Given the description of an element on the screen output the (x, y) to click on. 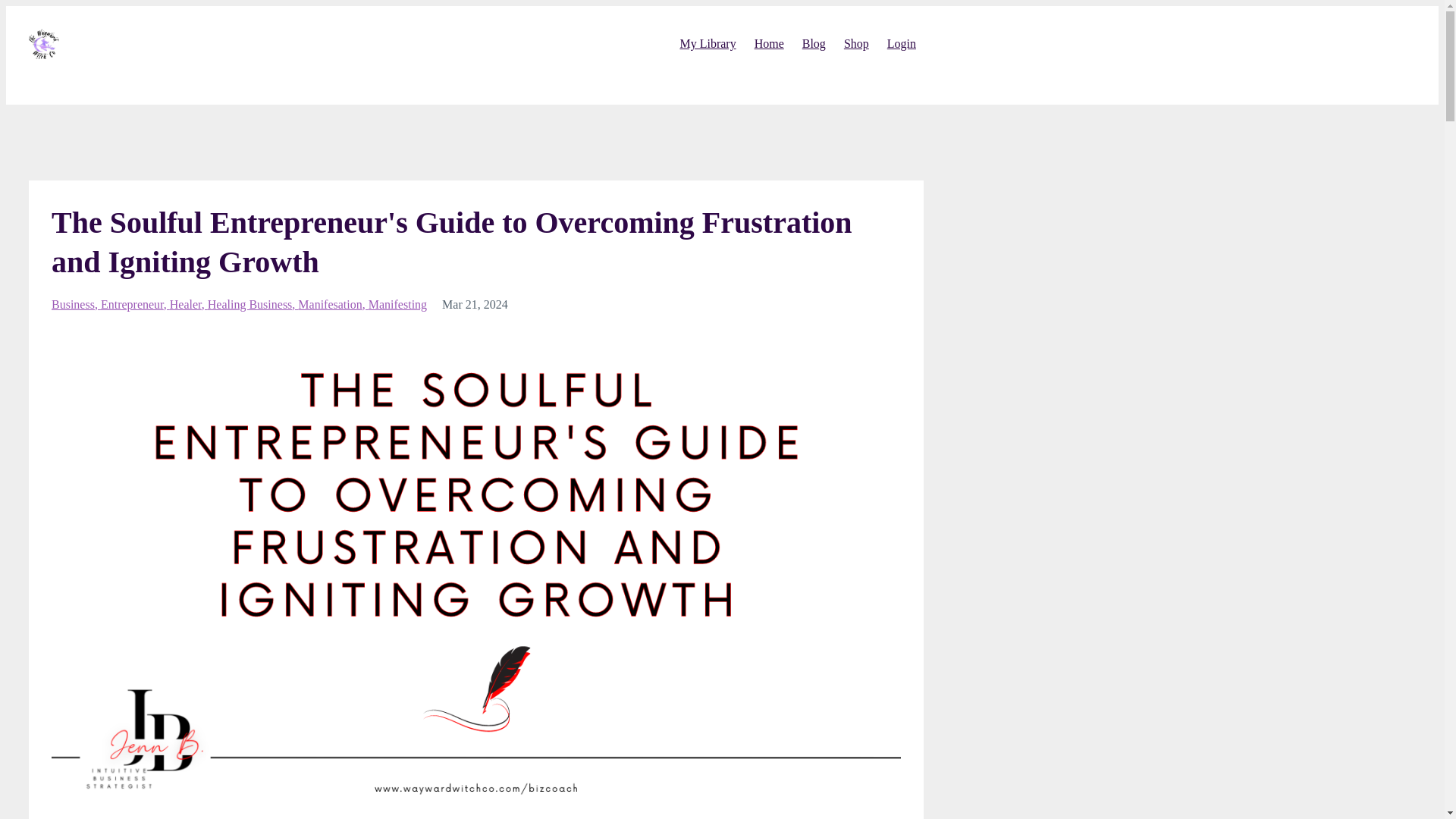
Entrepreneur (135, 304)
Manifesation (333, 304)
Business (75, 304)
Healing Business (253, 304)
Manifesting (397, 304)
Login (900, 43)
Home (769, 43)
Healer (189, 304)
My Library (707, 43)
